Given the description of an element on the screen output the (x, y) to click on. 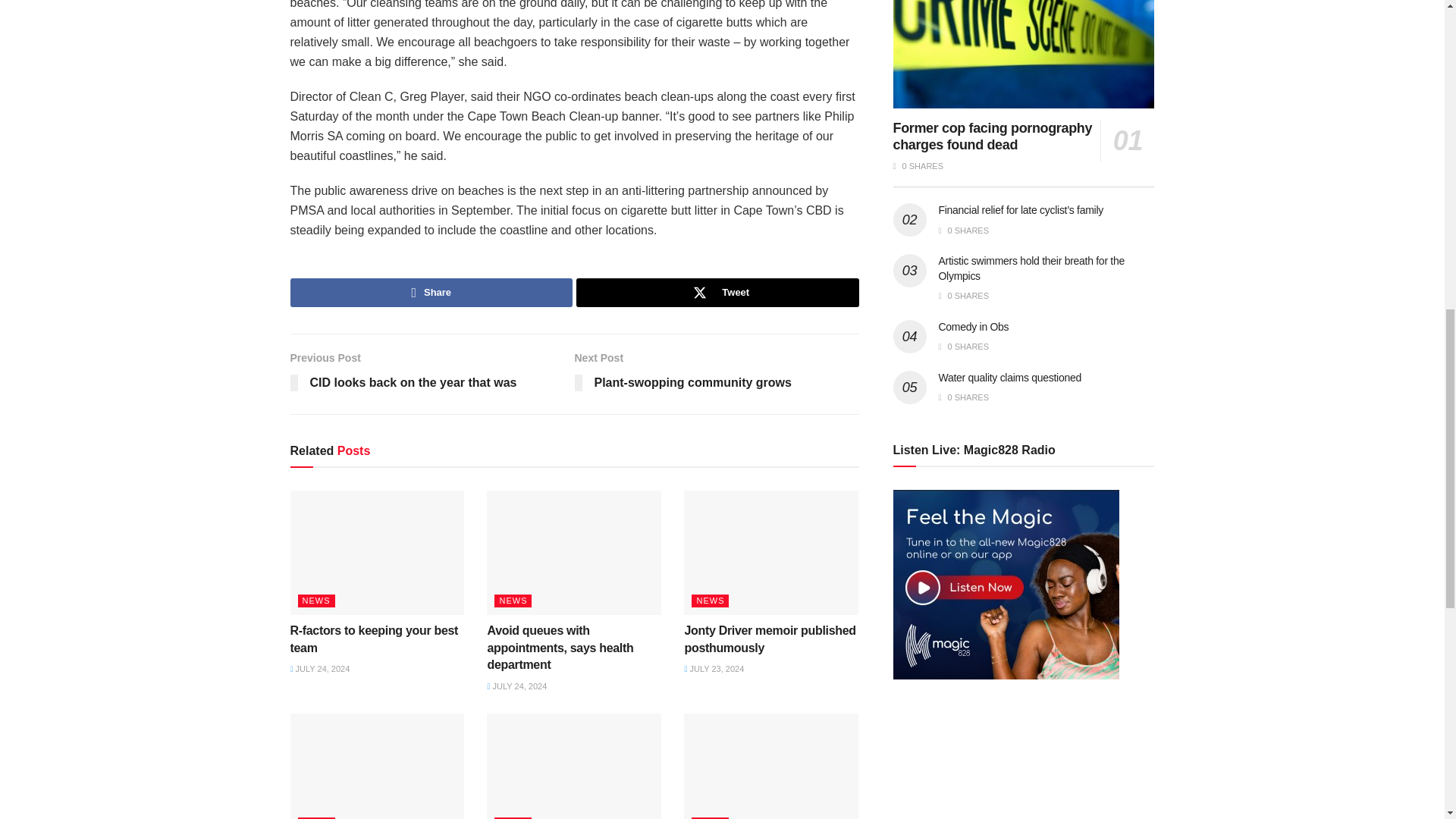
Share (430, 292)
